Given the description of an element on the screen output the (x, y) to click on. 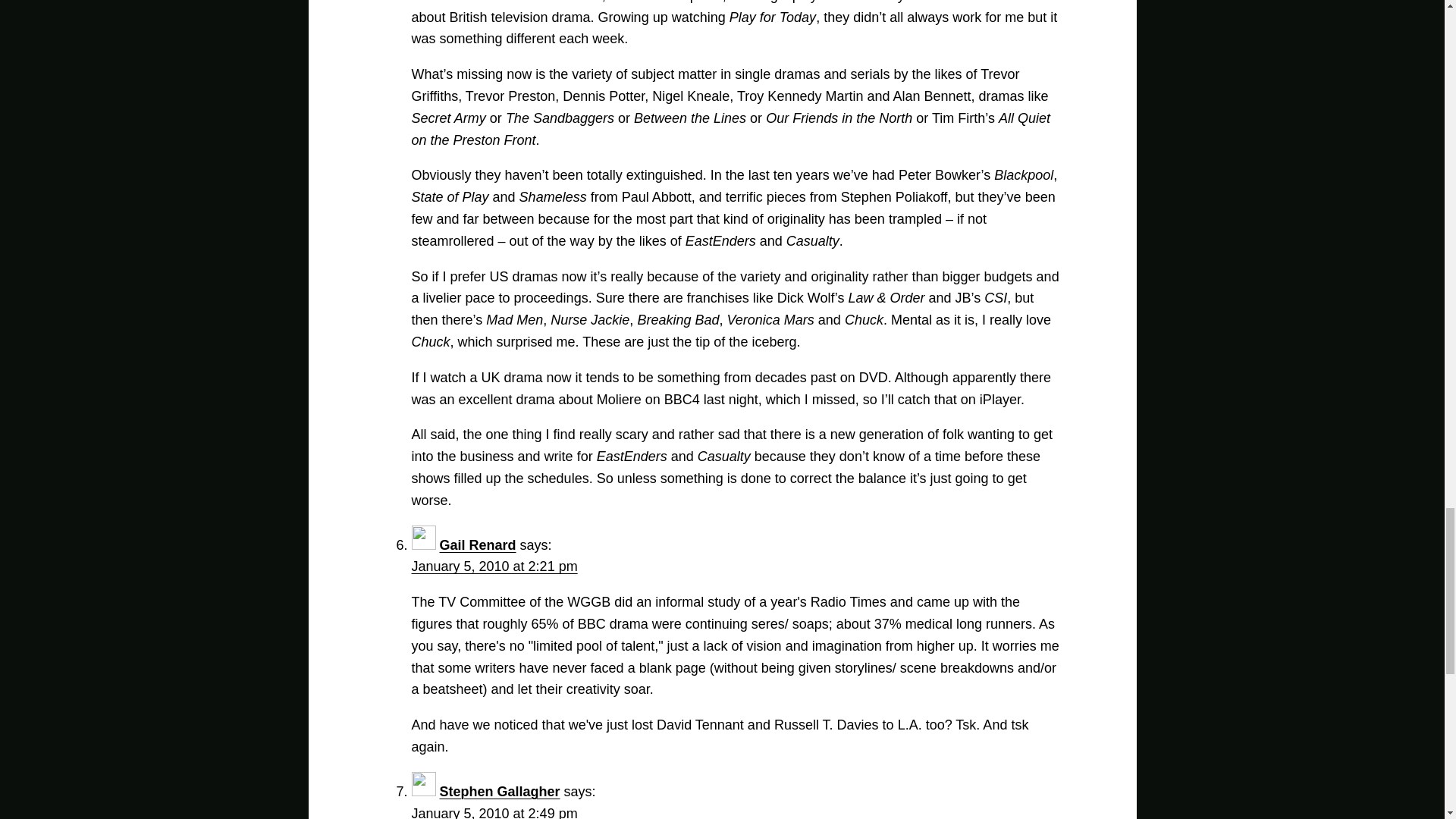
Stephen Gallagher (499, 791)
Gail Renard (477, 544)
January 5, 2010 at 2:49 pm (493, 812)
January 5, 2010 at 2:21 pm (493, 566)
